Given the description of an element on the screen output the (x, y) to click on. 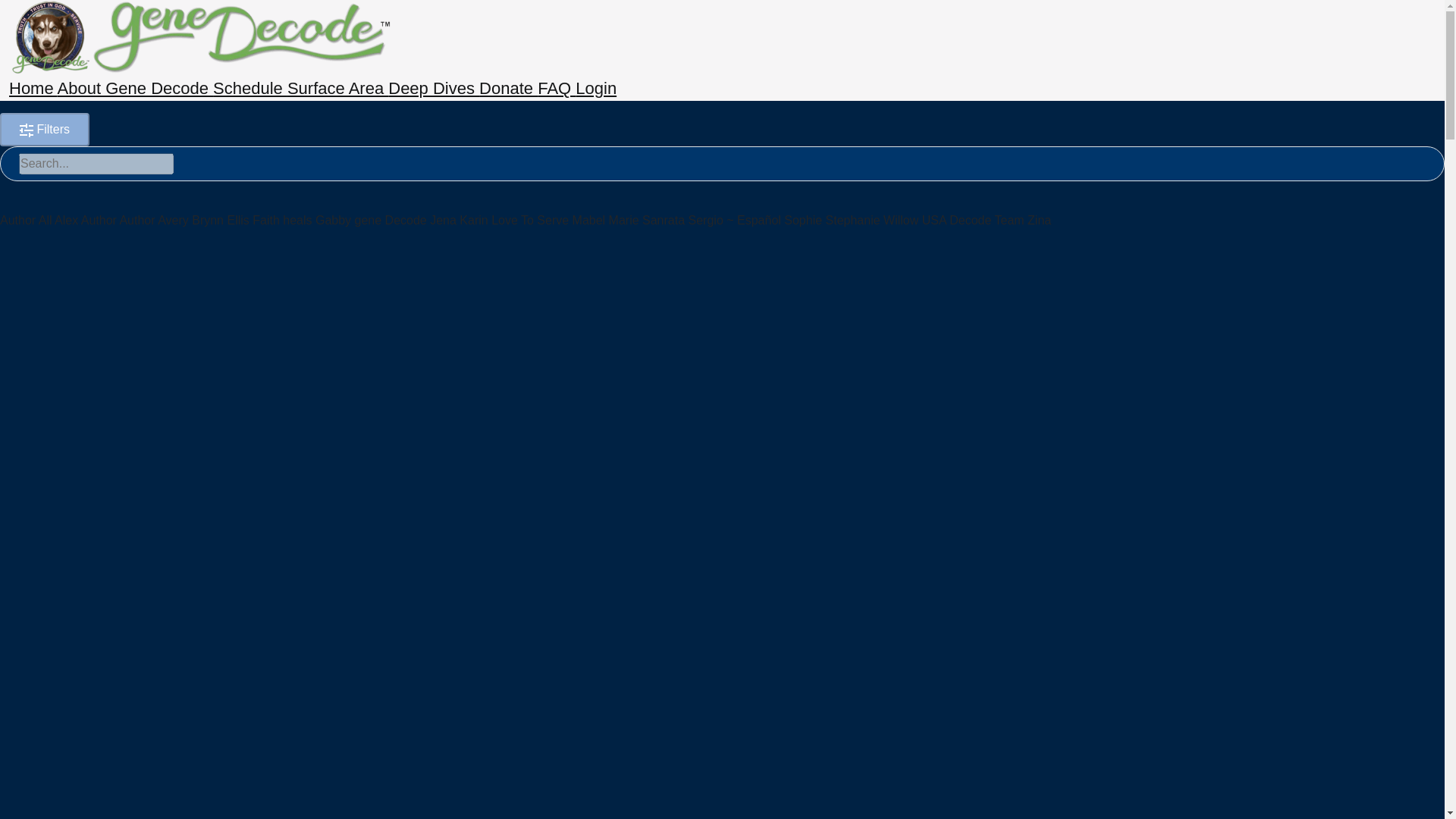
Filters (44, 129)
Schedule (249, 88)
Donate (508, 88)
FAQ (556, 88)
Home (33, 88)
Login (595, 88)
Surface Area (337, 88)
About Gene Decode (135, 88)
Deep Dives (433, 88)
